Given the description of an element on the screen output the (x, y) to click on. 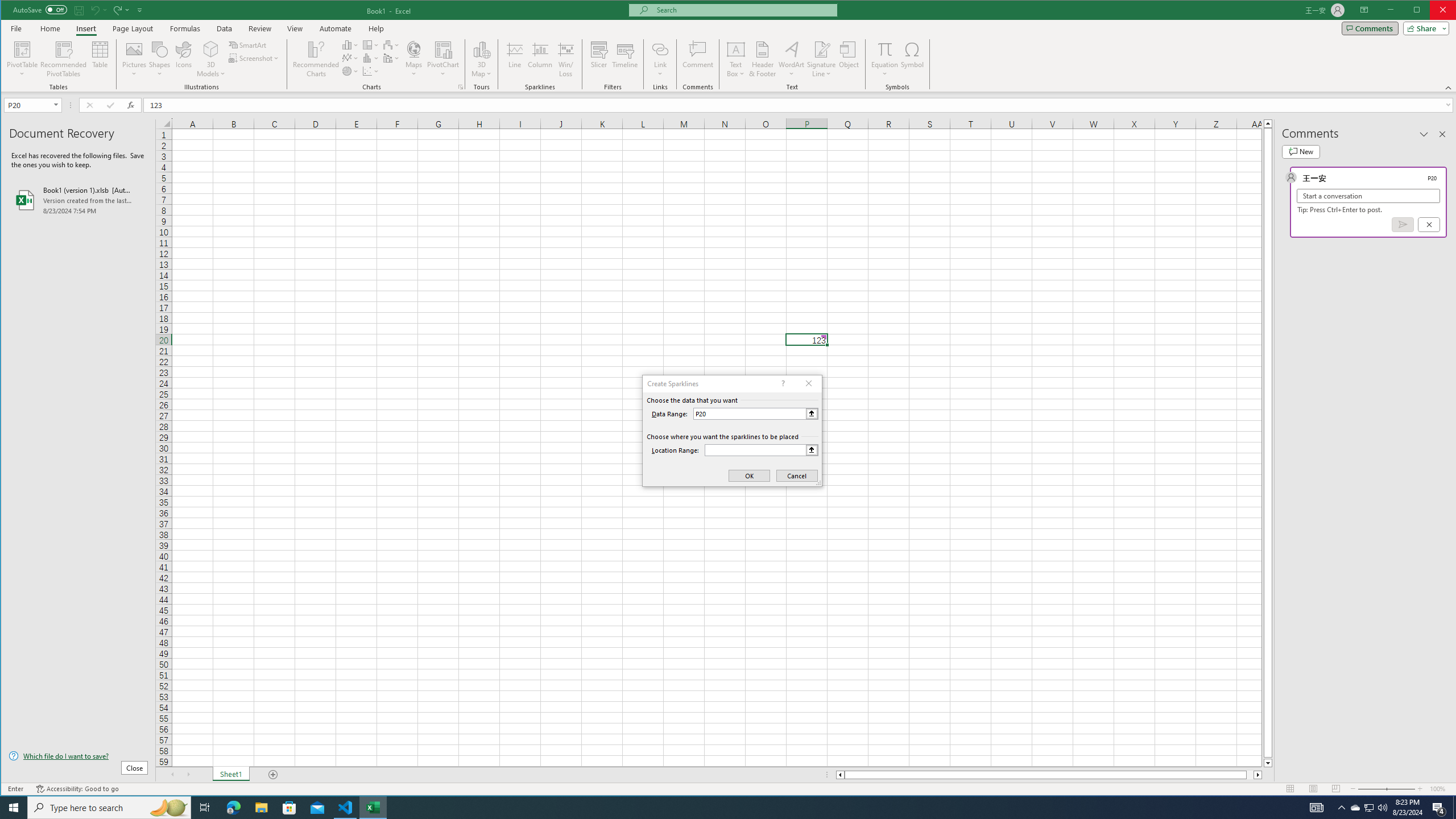
Recommended PivotTables (63, 59)
Insert Pie or Doughnut Chart (350, 70)
Equation (884, 59)
Draw Horizontal Text Box (735, 48)
Accessibility Checker Accessibility: Good to go (77, 788)
Add Sheet (272, 774)
Line (514, 59)
3D Models (211, 59)
Share (1423, 27)
PivotTable (22, 48)
Signature Line (821, 48)
Pictures (134, 59)
Symbol... (912, 59)
Insert Waterfall, Funnel, Stock, Surface, or Radar Chart (391, 44)
